Given the description of an element on the screen output the (x, y) to click on. 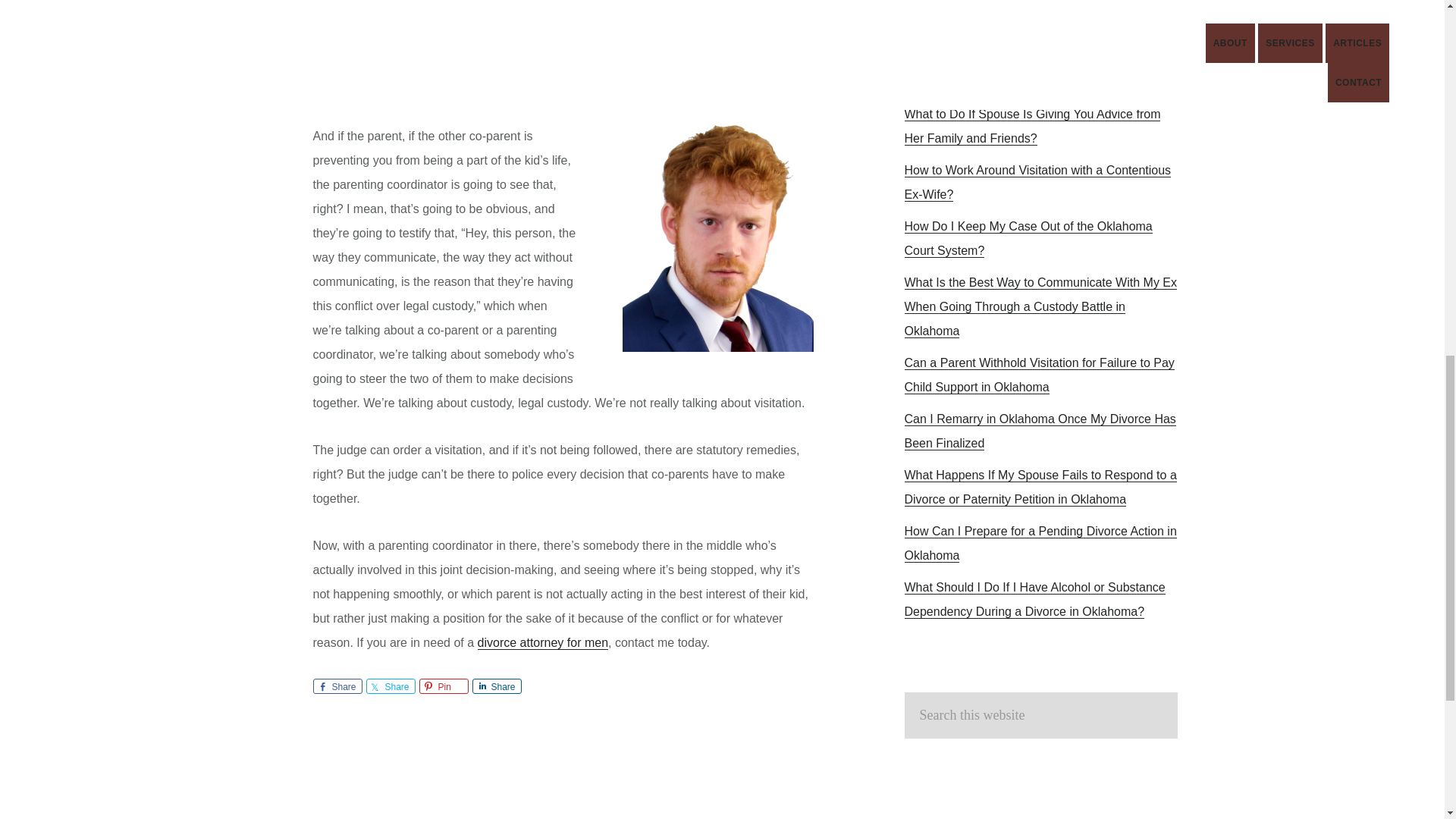
Pin (443, 685)
Share (389, 685)
Share (337, 685)
Share (496, 685)
divorce attorney for men (542, 643)
